Given the description of an element on the screen output the (x, y) to click on. 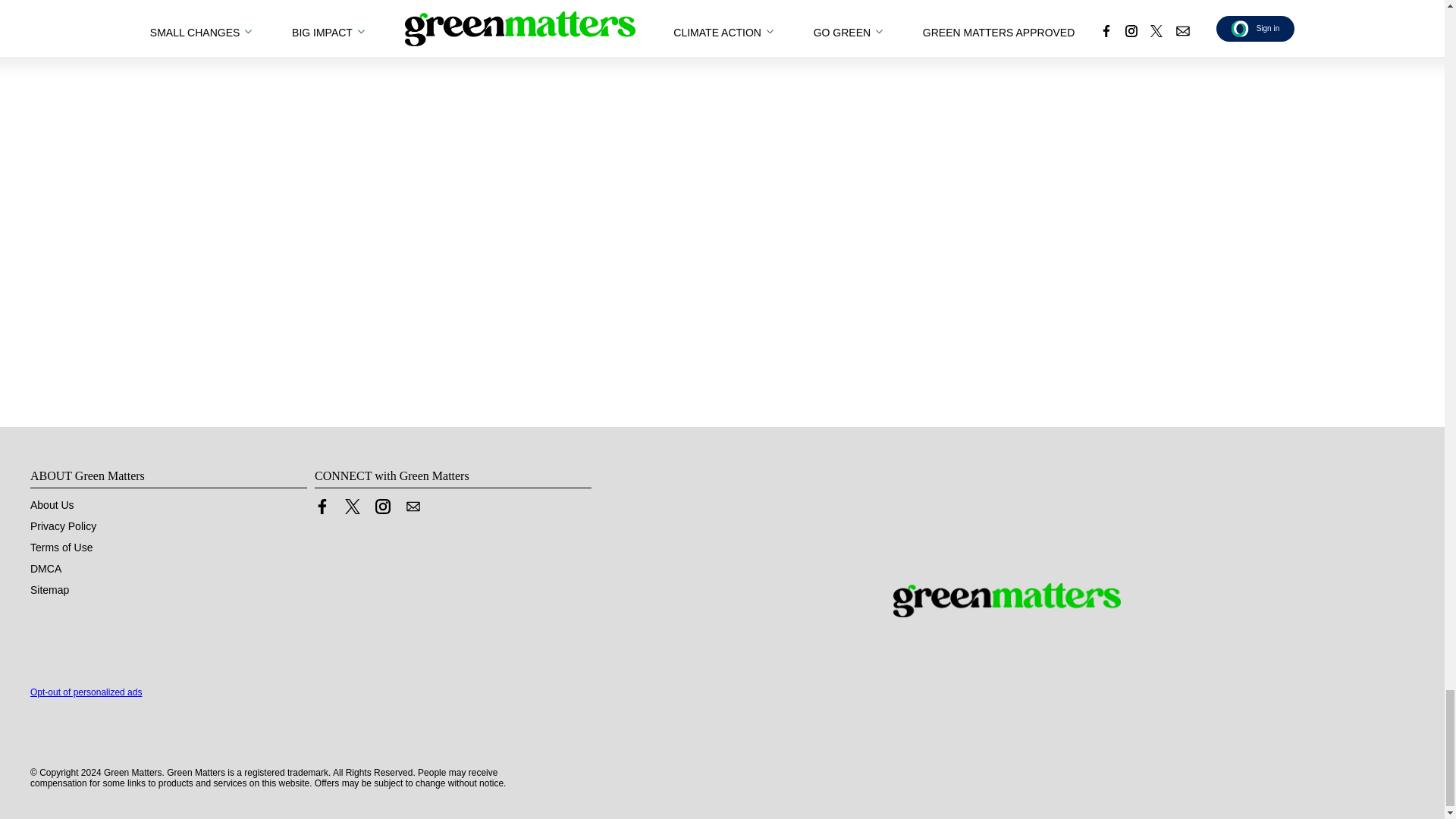
Link to Instagram (382, 505)
Contact us by Email (413, 505)
Link to X (352, 505)
DMCA (45, 567)
About Us (52, 503)
Link to Facebook (322, 505)
Terms of Use (61, 546)
Sitemap (49, 589)
Privacy Policy (63, 525)
